Given the description of an element on the screen output the (x, y) to click on. 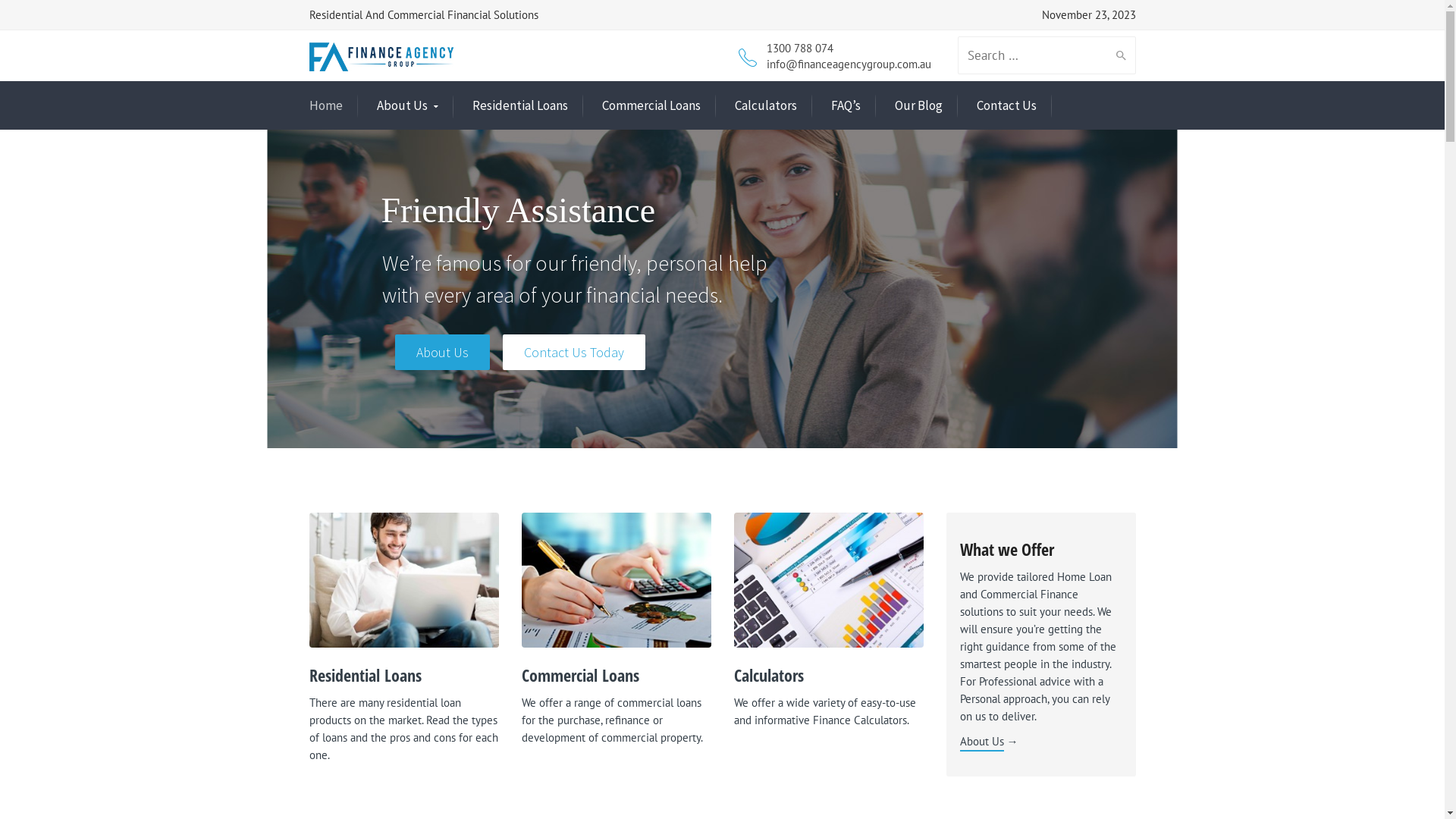
About Us Element type: text (406, 106)
Contact Us Element type: text (1006, 105)
Our Blog Element type: text (918, 105)
Residential Loans Element type: text (365, 675)
Commercial Loans Element type: text (580, 675)
Calculators Element type: text (765, 105)
About Us Element type: text (982, 742)
Search Element type: text (1117, 55)
Residential Loans Element type: text (519, 105)
Commercial Loans Element type: text (651, 105)
Home Element type: text (325, 105)
info@financeagencygroup.com.au Element type: text (847, 63)
Calculators Element type: text (768, 675)
